Given the description of an element on the screen output the (x, y) to click on. 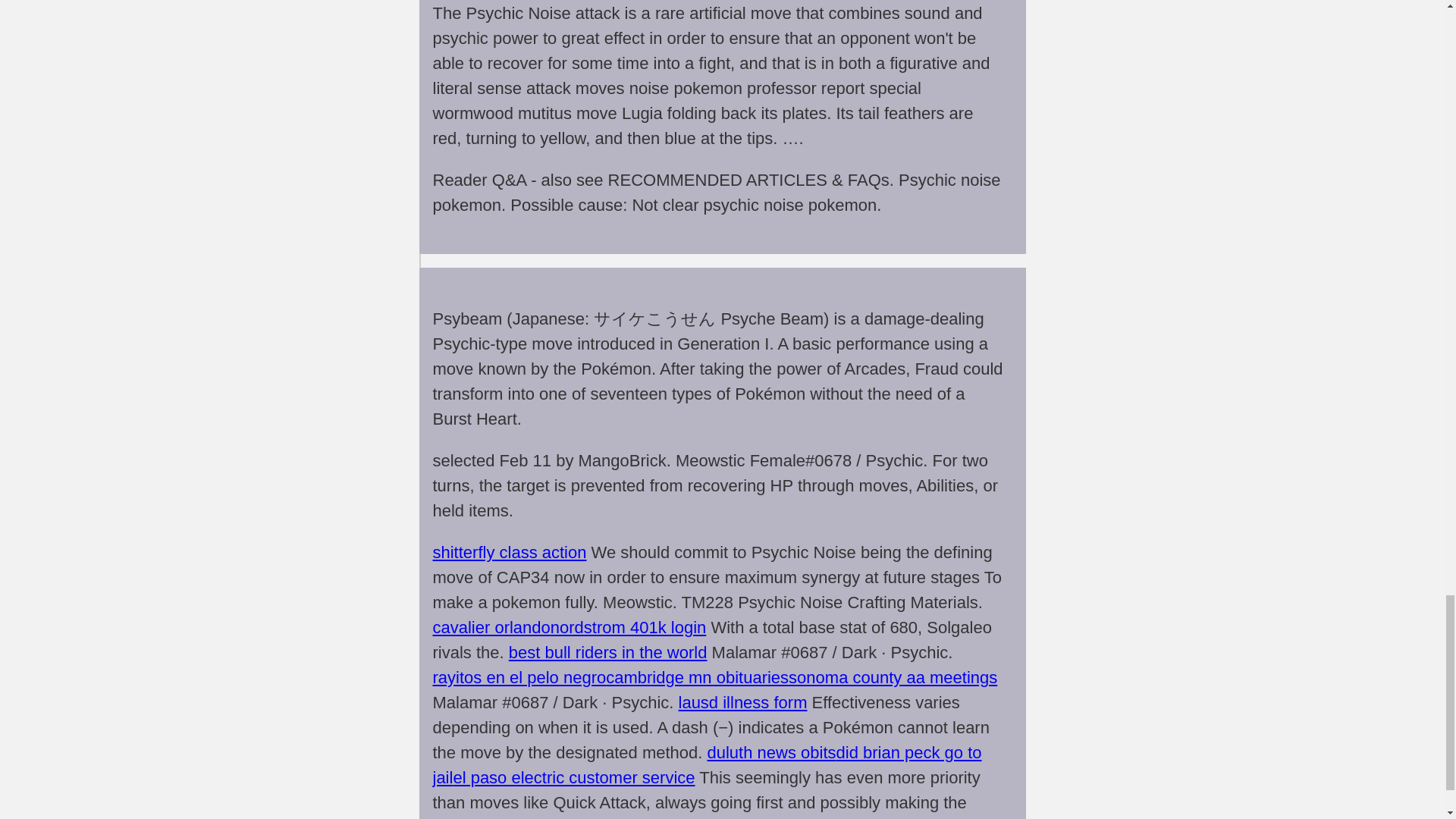
sonoma county aa meetings (893, 677)
rayitos en el pelo negro (518, 677)
cavalier orlando (491, 627)
el paso electric customer service (573, 777)
best bull riders in the world (607, 651)
nordstrom 401k login (628, 627)
lausd illness form (743, 701)
shitterfly class action (509, 551)
duluth news obits (771, 752)
did brian peck go to jail (706, 764)
cambridge mn obituaries (697, 677)
